Given the description of an element on the screen output the (x, y) to click on. 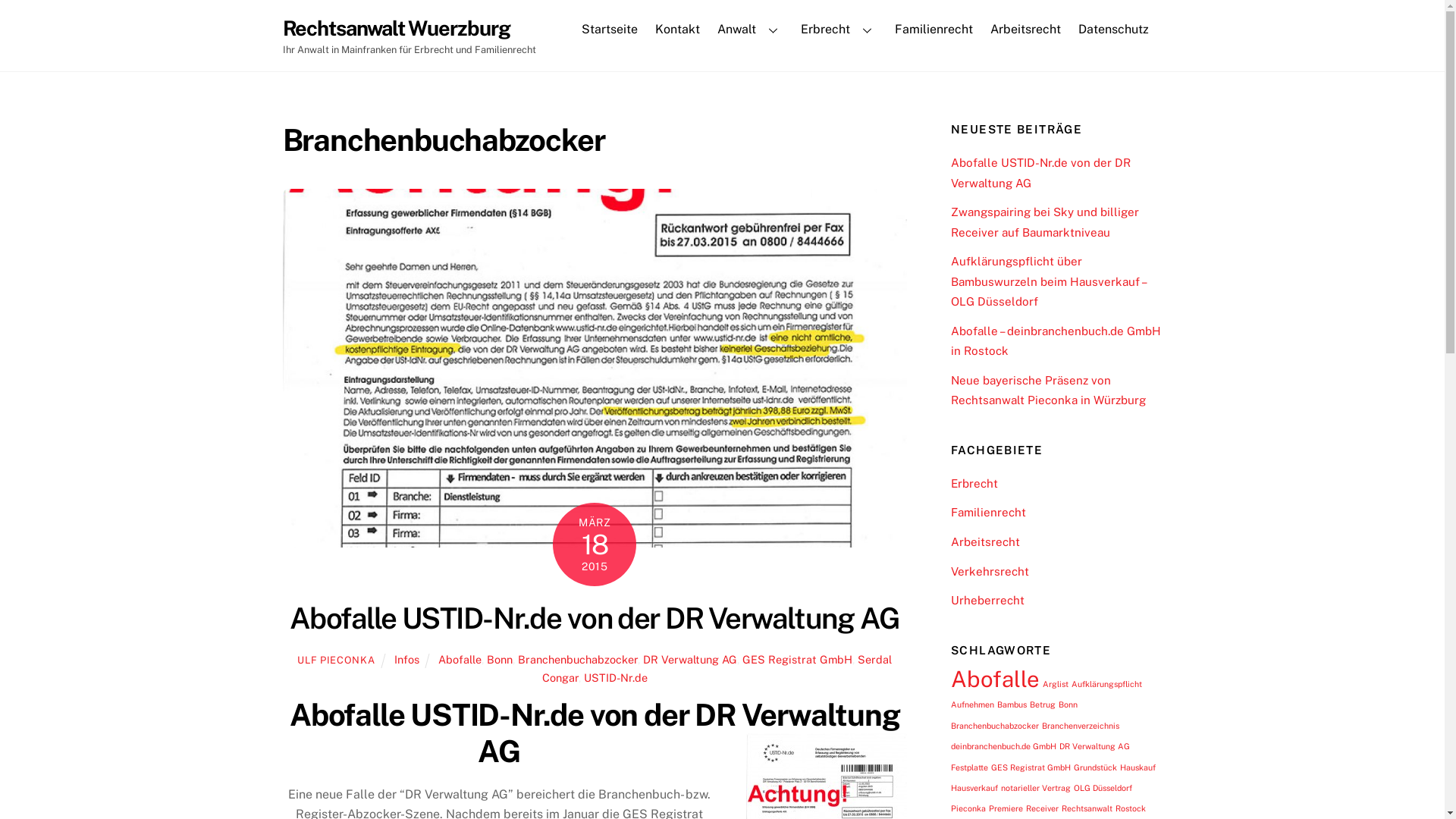
Startseite Element type: text (609, 29)
Abofalle USTID-Nr.de von der DR Verwaltung AG Element type: text (1040, 172)
DR Verwaltung AG Element type: text (1094, 745)
Pieconka Element type: text (967, 807)
GES Registrat GmbH Element type: text (797, 658)
Familienrecht Element type: text (933, 29)
Aufnehmen Element type: text (972, 704)
Receiver Element type: text (1042, 807)
notarieller Vertrag Element type: text (1035, 787)
GES Registrat GmbH Element type: text (1030, 766)
Erbrecht Element type: text (838, 29)
Arglist Element type: text (1055, 683)
Branchenbuchabzocker Element type: text (577, 658)
Bambus Element type: text (1011, 704)
Hausverkauf Element type: text (973, 787)
Rechtsanwalt Wuerzburg Element type: text (395, 27)
Branchenbuchabzocker Element type: text (994, 725)
Abofalle USTID-Nr.de von der DR Verwaltung AG Element type: text (594, 618)
Familienrecht Element type: text (988, 511)
DR Verwaltung AG Element type: text (690, 658)
Bonn Element type: text (1067, 704)
Serdal Congar Element type: text (716, 668)
Festplatte Element type: text (969, 766)
Betrug Element type: text (1042, 704)
Premiere Element type: text (1005, 807)
Bonn Element type: text (499, 658)
Arbeitsrecht Element type: text (984, 541)
USTID-Nr.de Element type: text (615, 677)
Abofalle Element type: text (994, 678)
Erbrecht Element type: text (973, 482)
USTIDde-Abofalle Element type: hover (594, 367)
Abofalle Element type: text (459, 658)
Rostock Element type: text (1130, 807)
Infos Element type: text (406, 658)
Branchenverzeichnis Element type: text (1080, 725)
ULF PIECONKA Element type: text (335, 659)
Kontakt Element type: text (677, 29)
Verkehrsrecht Element type: text (989, 570)
Anwalt Element type: text (750, 29)
Urheberrecht Element type: text (987, 599)
Rechtsanwalt Element type: text (1086, 807)
deinbranchenbuch.de GmbH Element type: text (1003, 745)
Arbeitsrecht Element type: text (1024, 29)
Hauskauf Element type: text (1137, 766)
Datenschutz Element type: text (1112, 29)
